Given the description of an element on the screen output the (x, y) to click on. 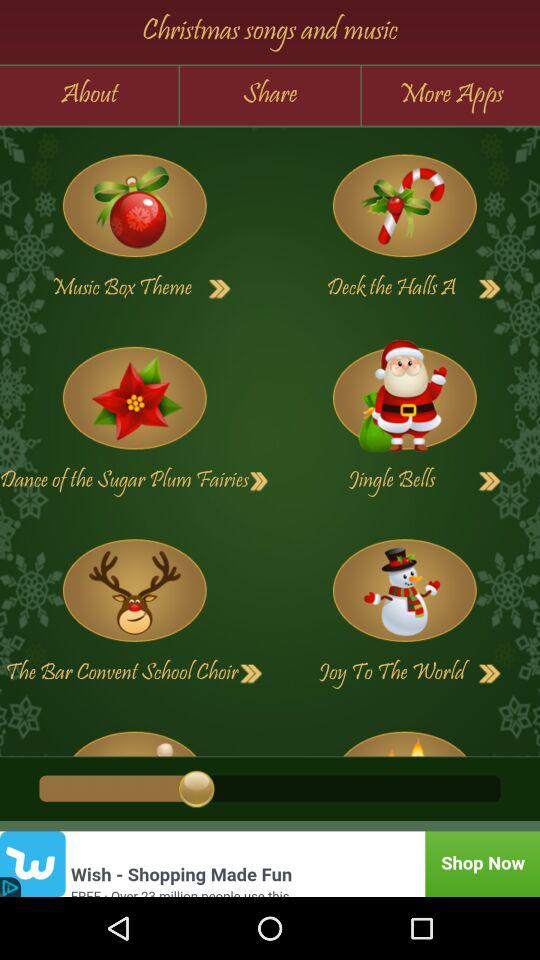
advertisement banner (270, 864)
